Given the description of an element on the screen output the (x, y) to click on. 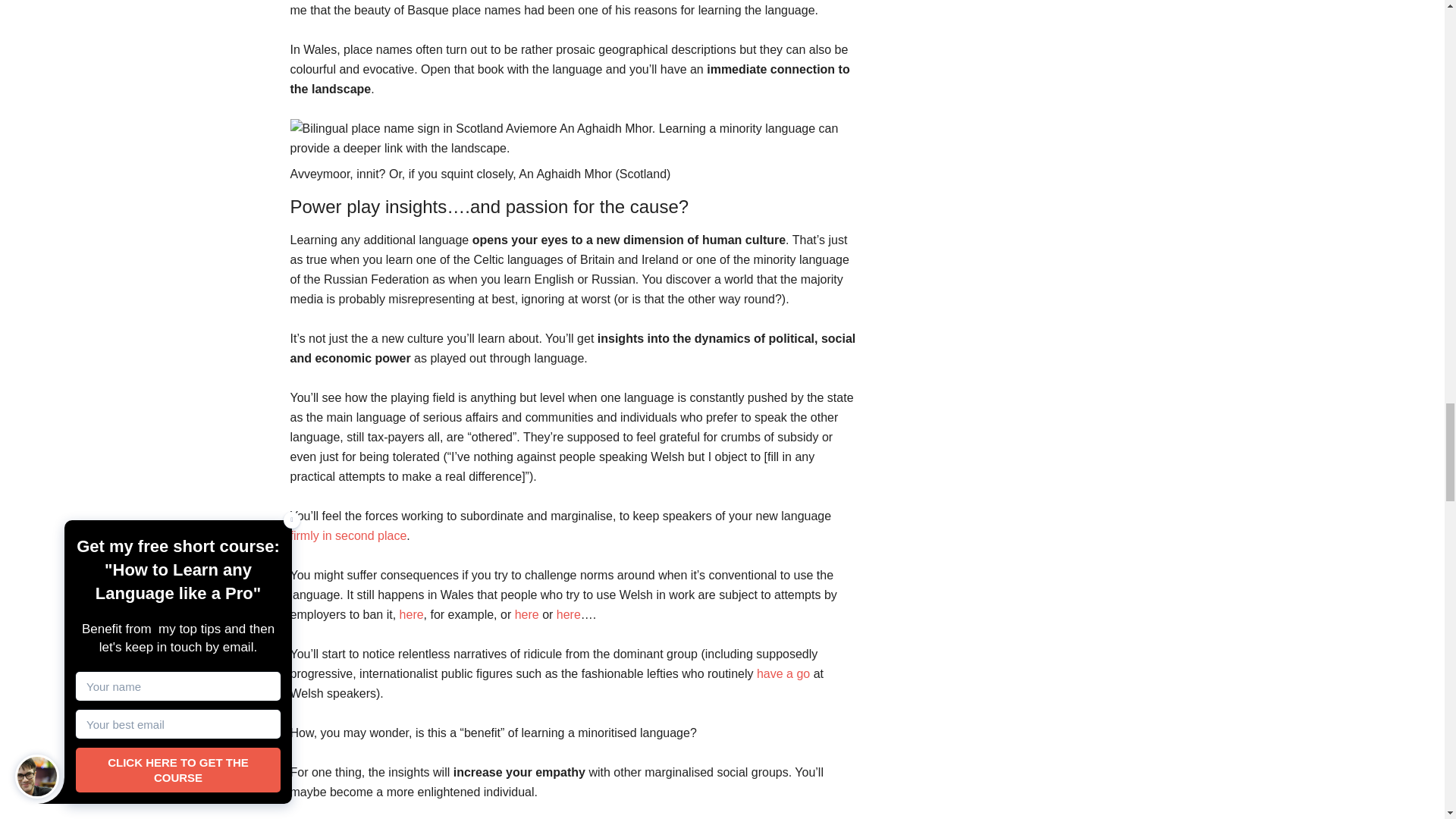
here (568, 614)
here (526, 614)
here (410, 614)
firmly in second place (347, 535)
have a go (783, 673)
